Given the description of an element on the screen output the (x, y) to click on. 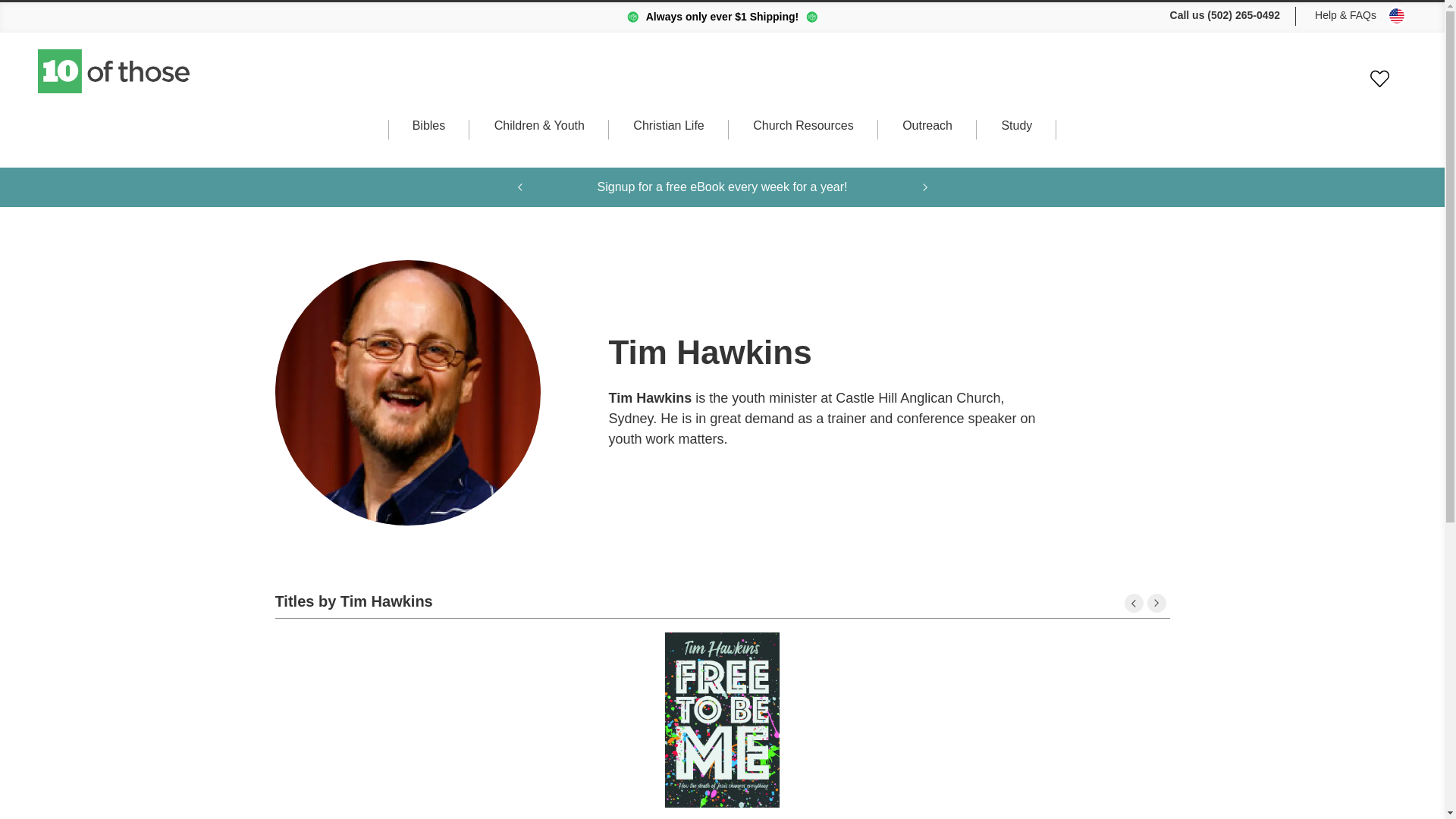
Favourites (1379, 78)
Bibles (428, 140)
Christian Life (668, 140)
10 of those (114, 71)
